Given the description of an element on the screen output the (x, y) to click on. 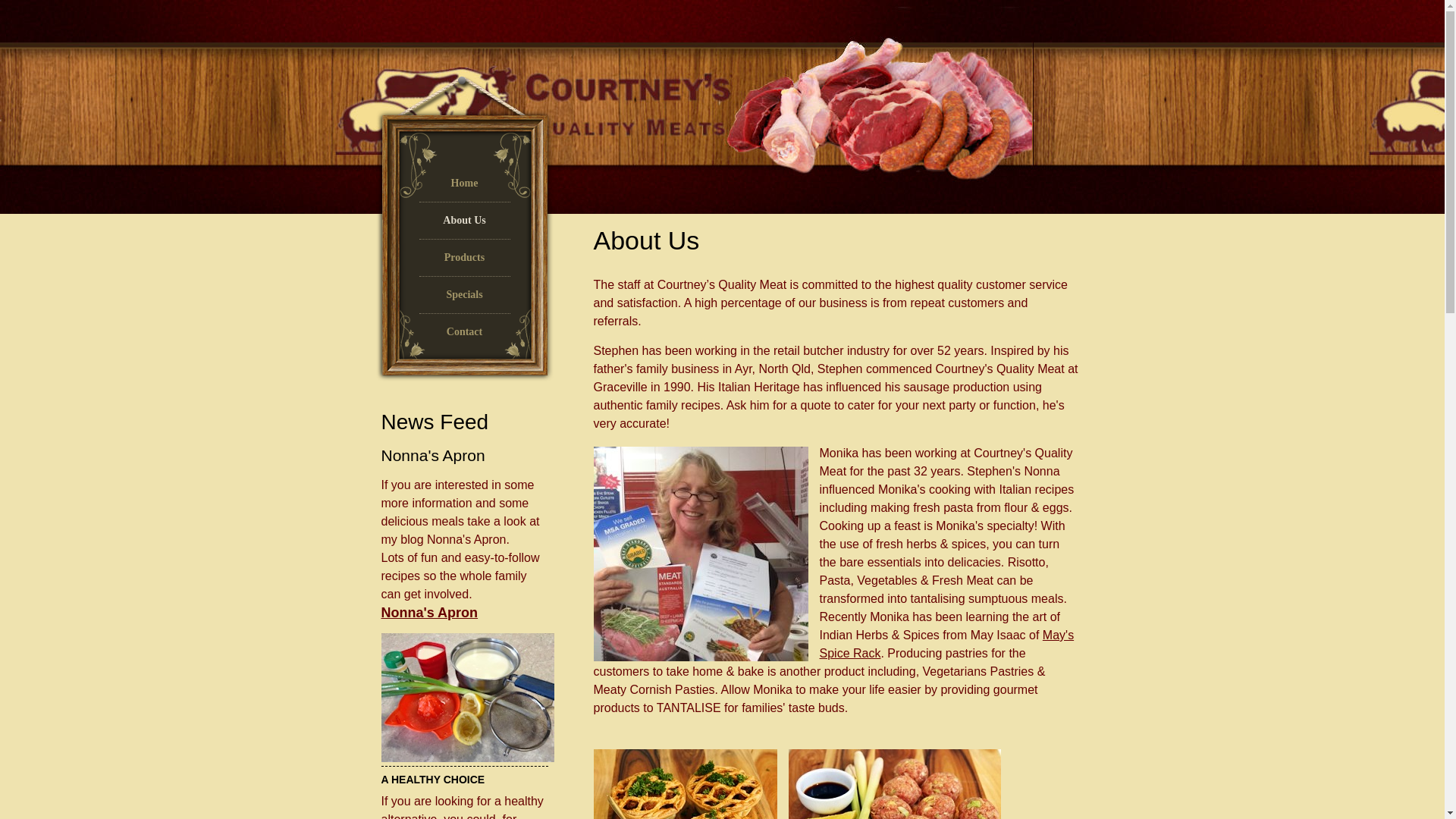
Nonna's Apron Element type: text (428, 612)
Products Element type: text (463, 262)
Specials Element type: text (463, 299)
Contact Element type: text (463, 336)
May's Spice Rack Element type: text (946, 643)
About Us Element type: text (463, 225)
Home Element type: text (463, 188)
